Given the description of an element on the screen output the (x, y) to click on. 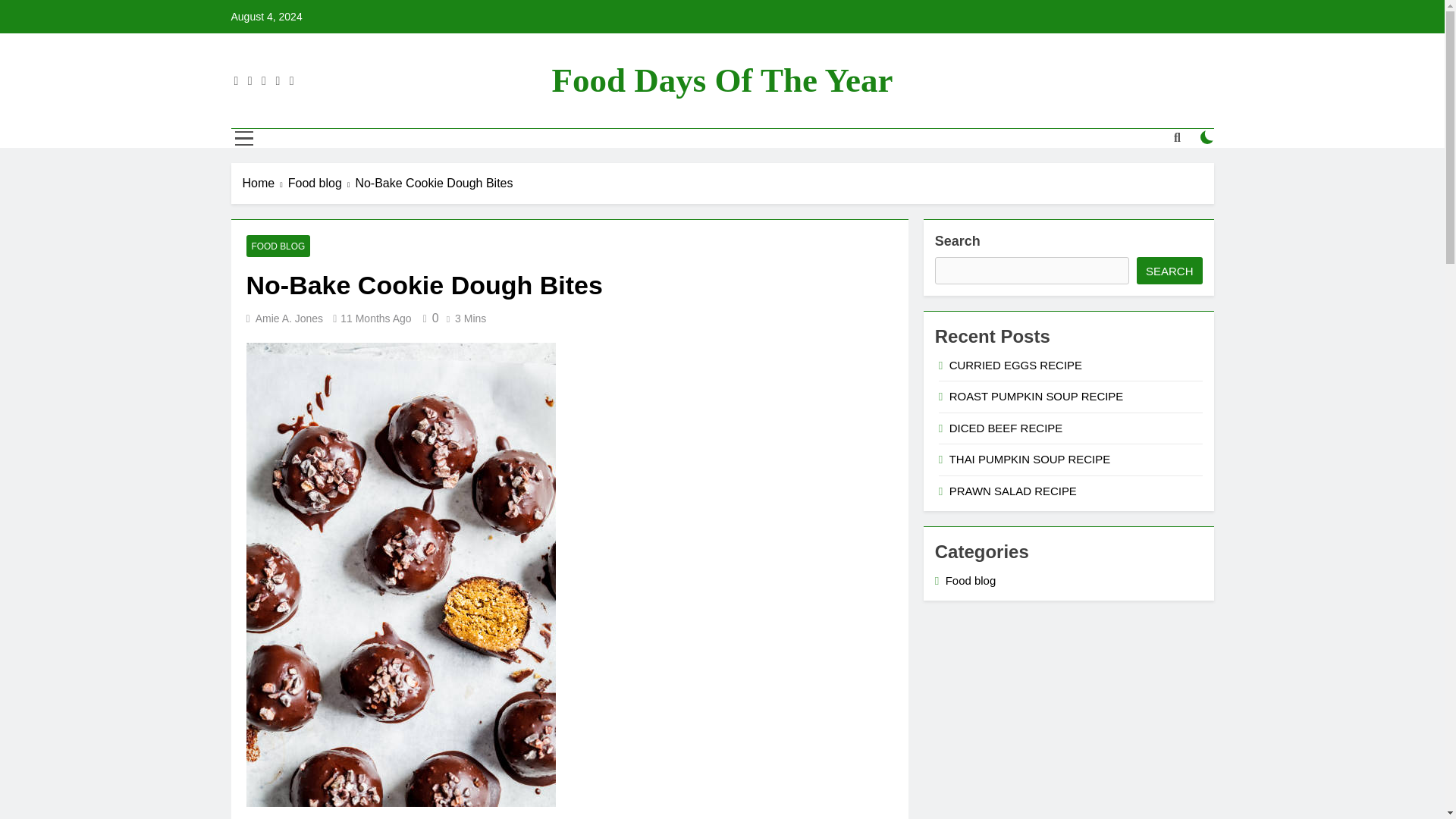
0 (428, 318)
Food Days Of The Year (722, 80)
on (1206, 137)
Amie A. Jones (289, 318)
11 Months Ago (375, 318)
FOOD BLOG (278, 246)
Food blog (321, 183)
Home (265, 183)
